Given the description of an element on the screen output the (x, y) to click on. 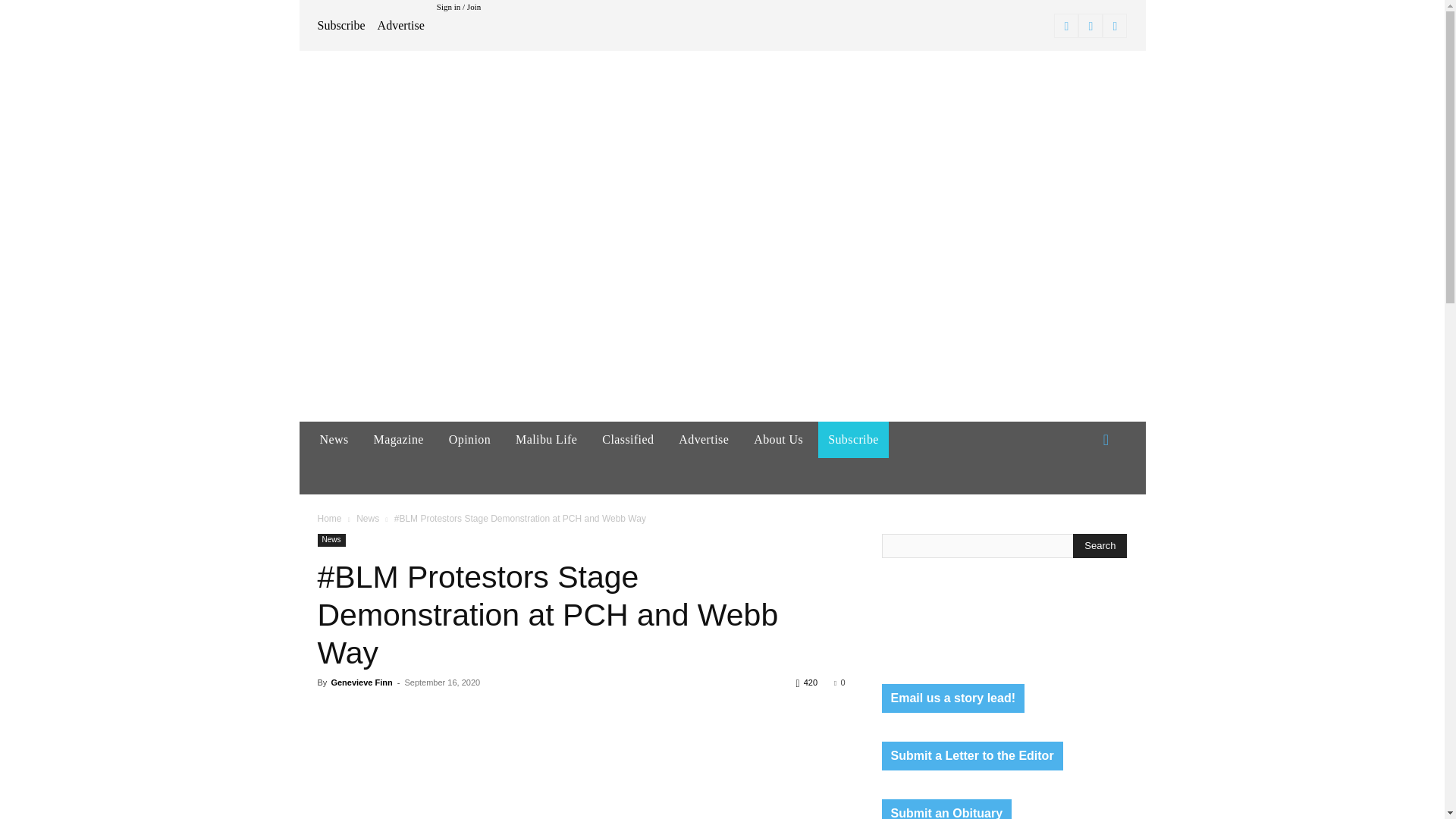
Search (1099, 545)
Instagram (1090, 25)
View all posts in News (367, 518)
Twitter (1114, 25)
Facebook (1066, 25)
